Given the description of an element on the screen output the (x, y) to click on. 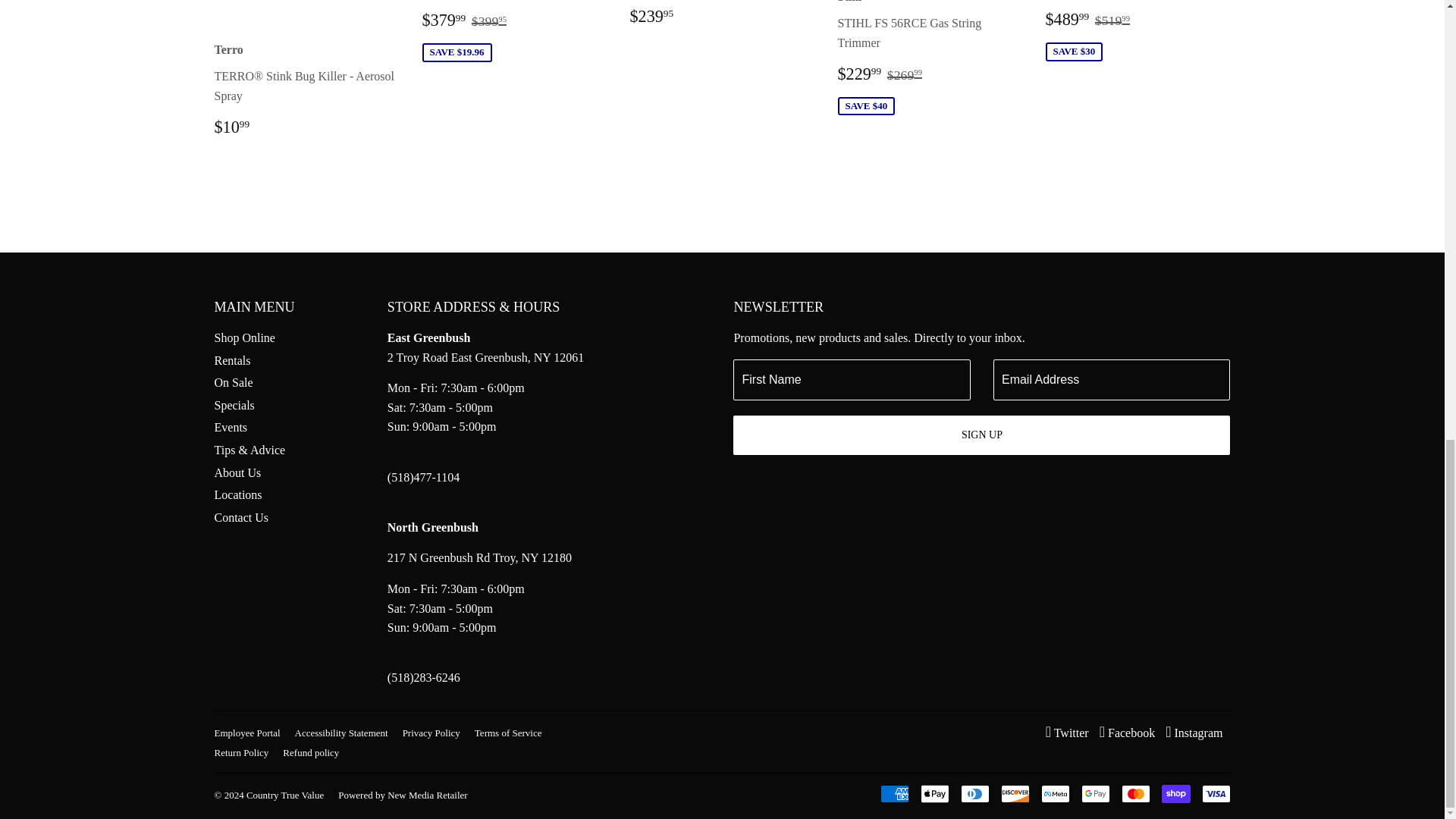
Apple Pay (934, 793)
Visa (1215, 793)
Country True Value on Instagram (1194, 732)
American Express (893, 793)
Meta Pay (1054, 793)
Google Pay (1095, 793)
Shop Pay (1176, 793)
Country True Value on Facebook (1127, 732)
Mastercard (1135, 793)
Discover (1015, 793)
